Given the description of an element on the screen output the (x, y) to click on. 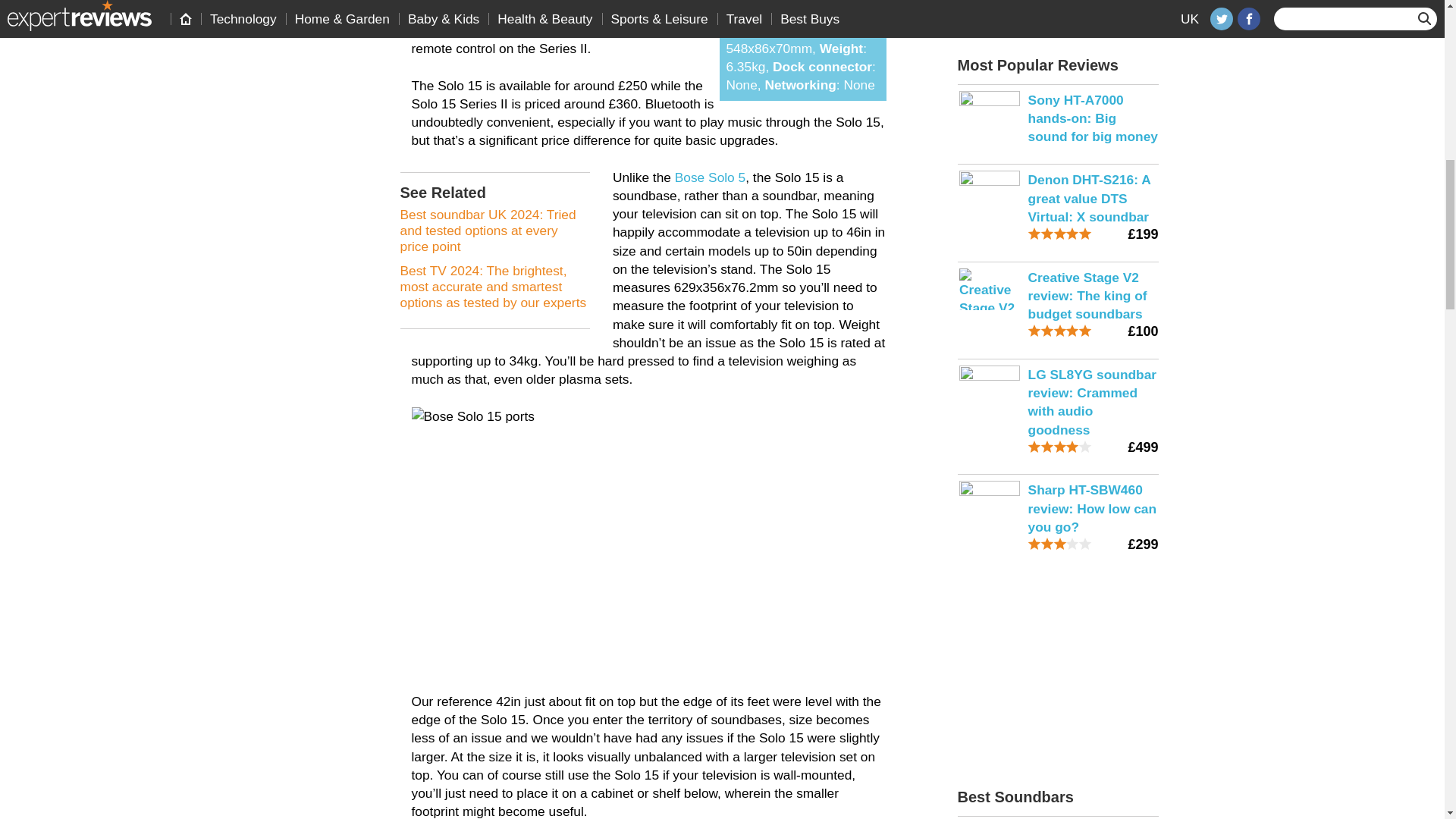
Bose Solo 5 (710, 177)
